Given the description of an element on the screen output the (x, y) to click on. 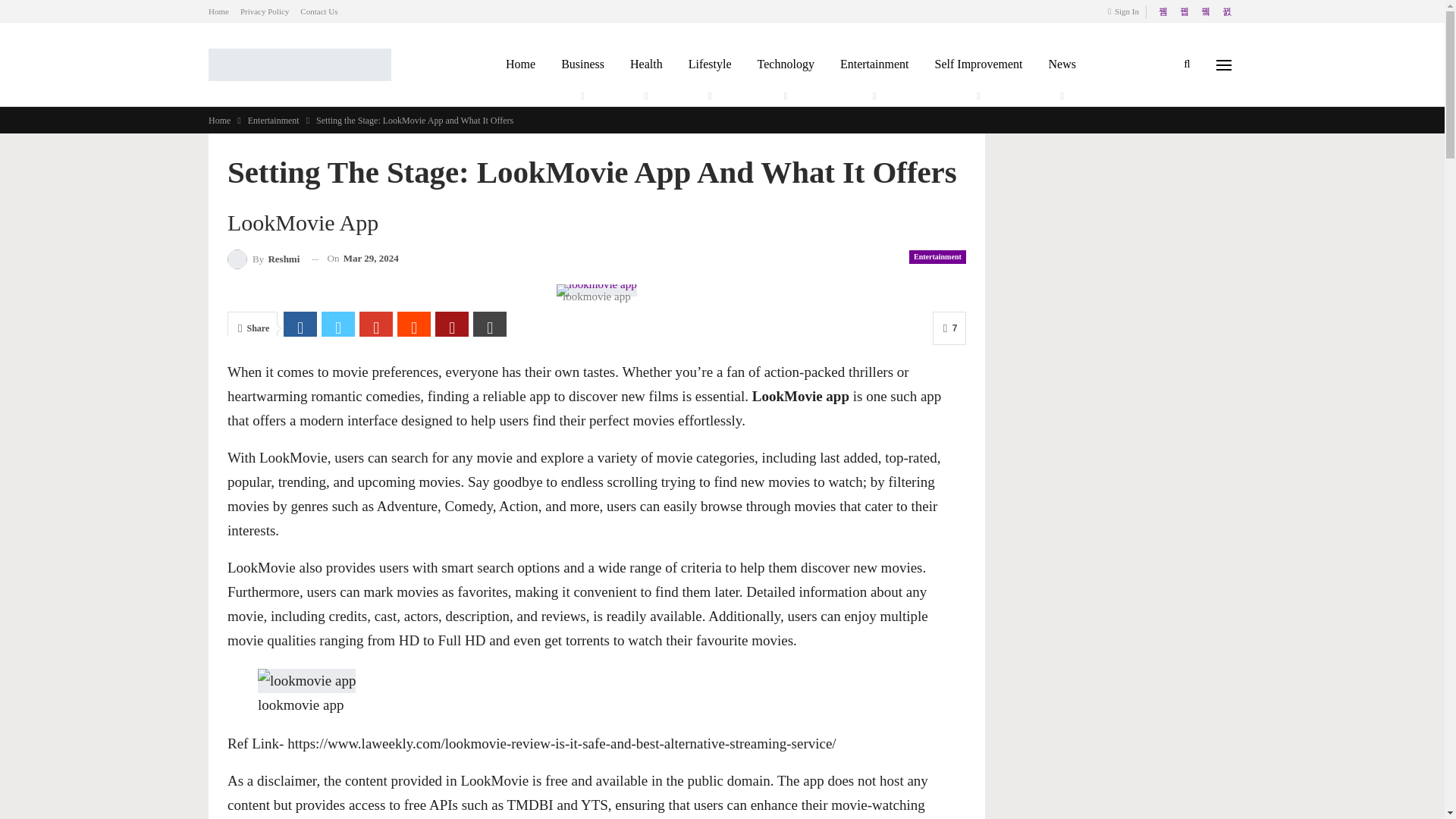
Home (218, 10)
Privacy Policy (264, 10)
Sign In (1126, 11)
Contact Us (318, 10)
Technology (786, 64)
Browse Author Articles (263, 258)
